Given the description of an element on the screen output the (x, y) to click on. 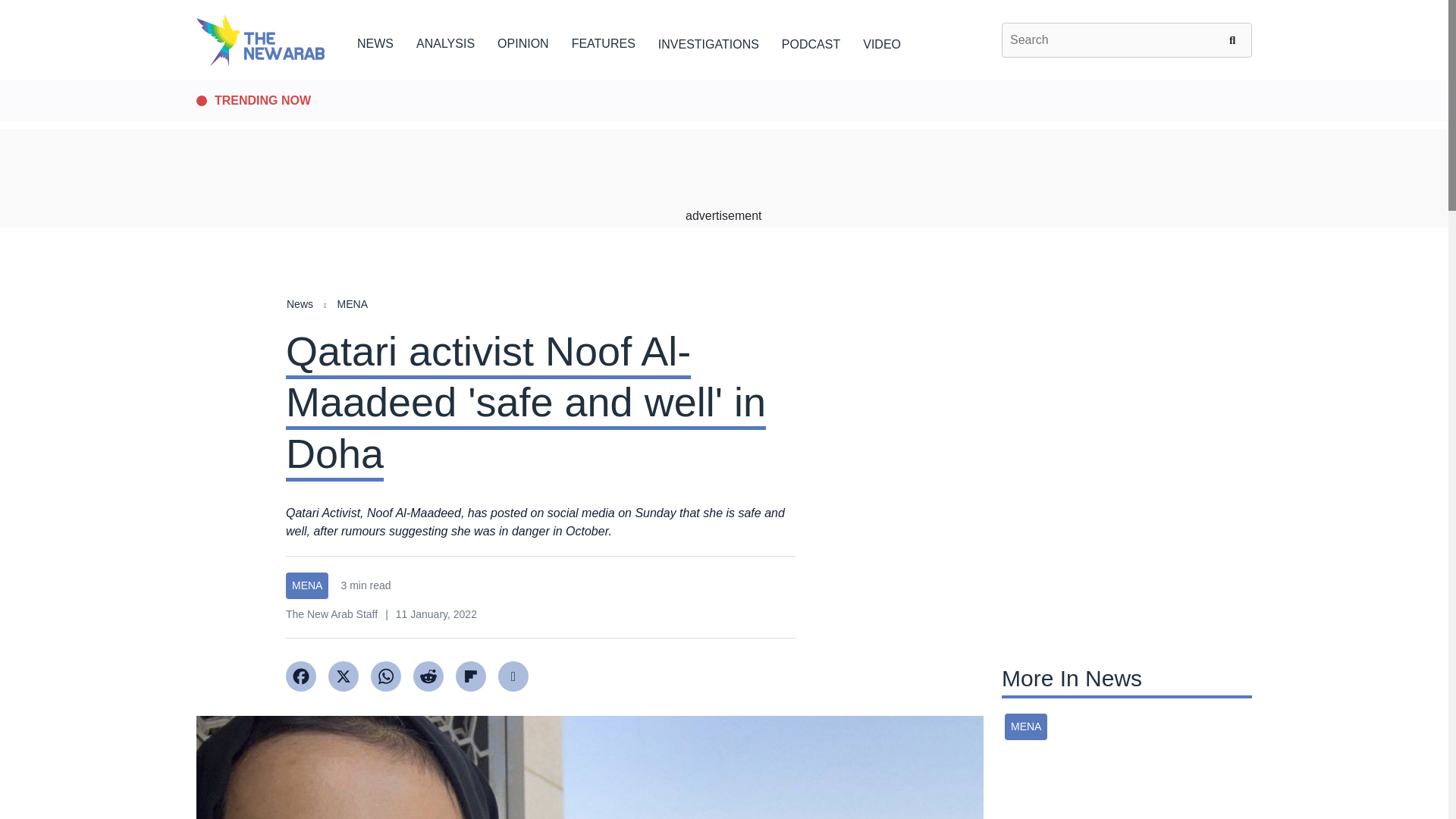
NEWS (375, 41)
OPINION (523, 41)
ANALYSIS (445, 41)
Skip to main content (724, 81)
Search (1234, 39)
